Given the description of an element on the screen output the (x, y) to click on. 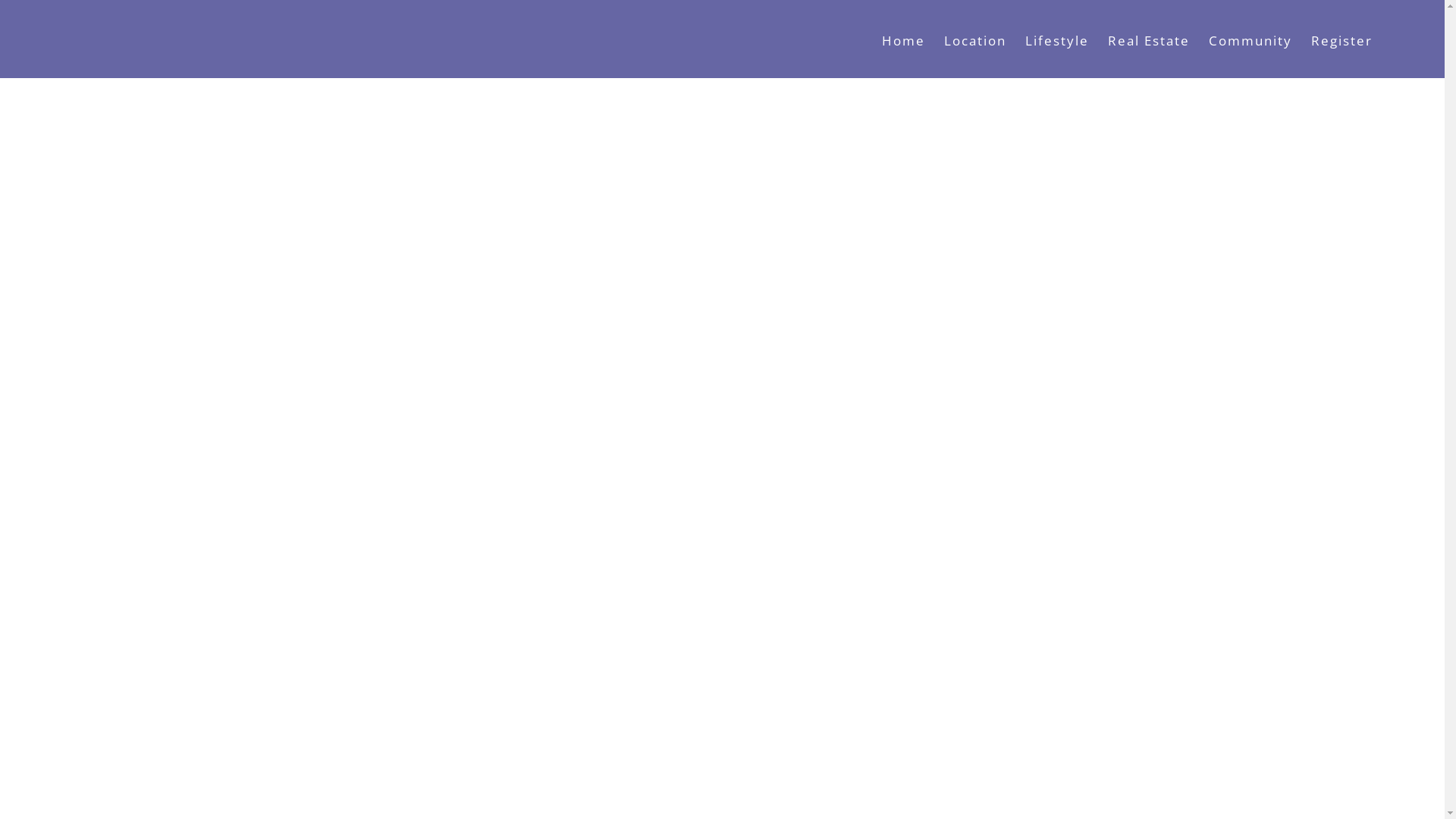
Lifestyle Element type: text (1056, 39)
Register Element type: text (1341, 39)
Location Element type: text (975, 39)
Home Element type: text (903, 39)
Real Estate Element type: text (1148, 39)
Community Element type: text (1250, 39)
